Given the description of an element on the screen output the (x, y) to click on. 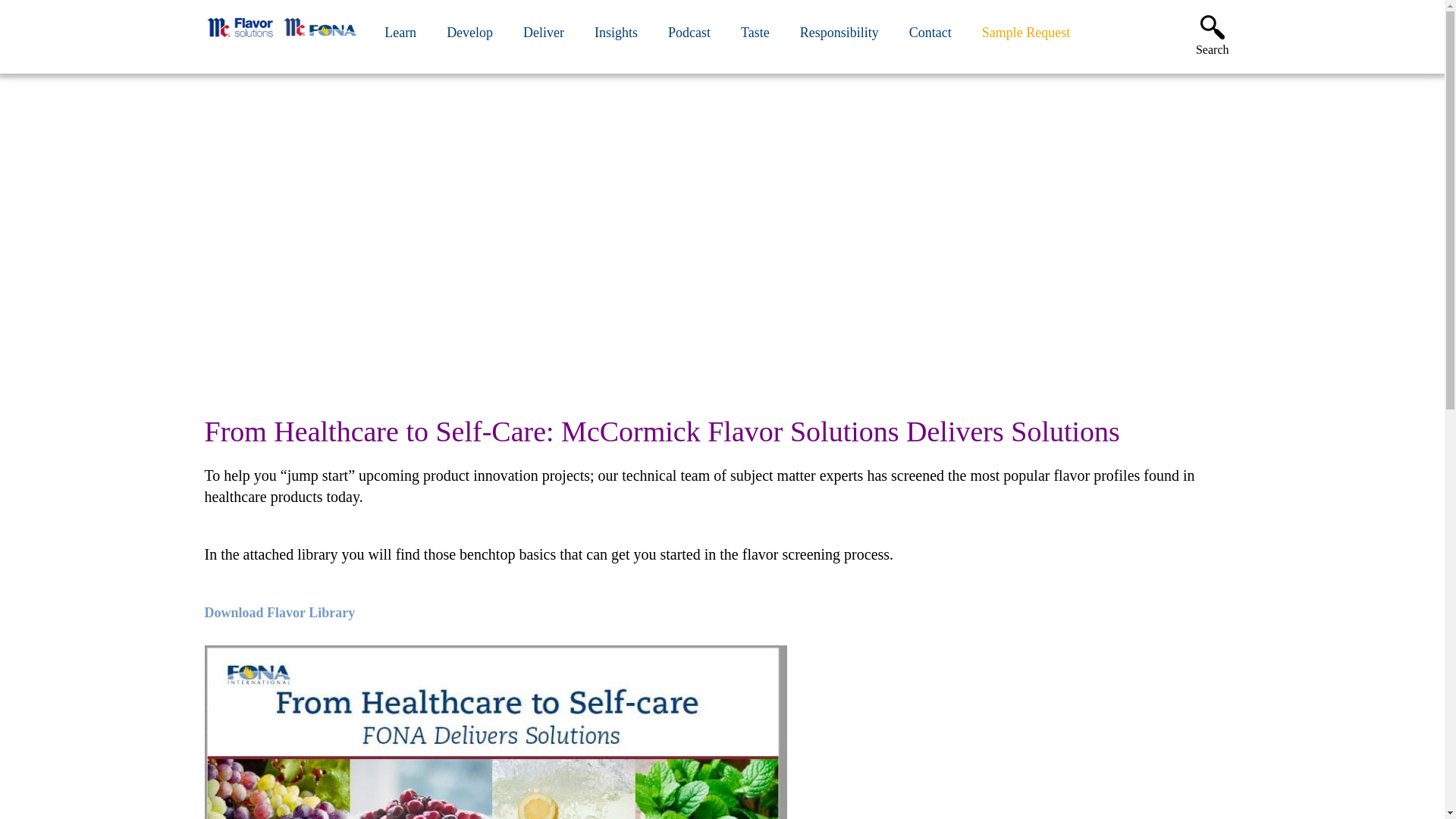
Logo (281, 40)
